Given the description of an element on the screen output the (x, y) to click on. 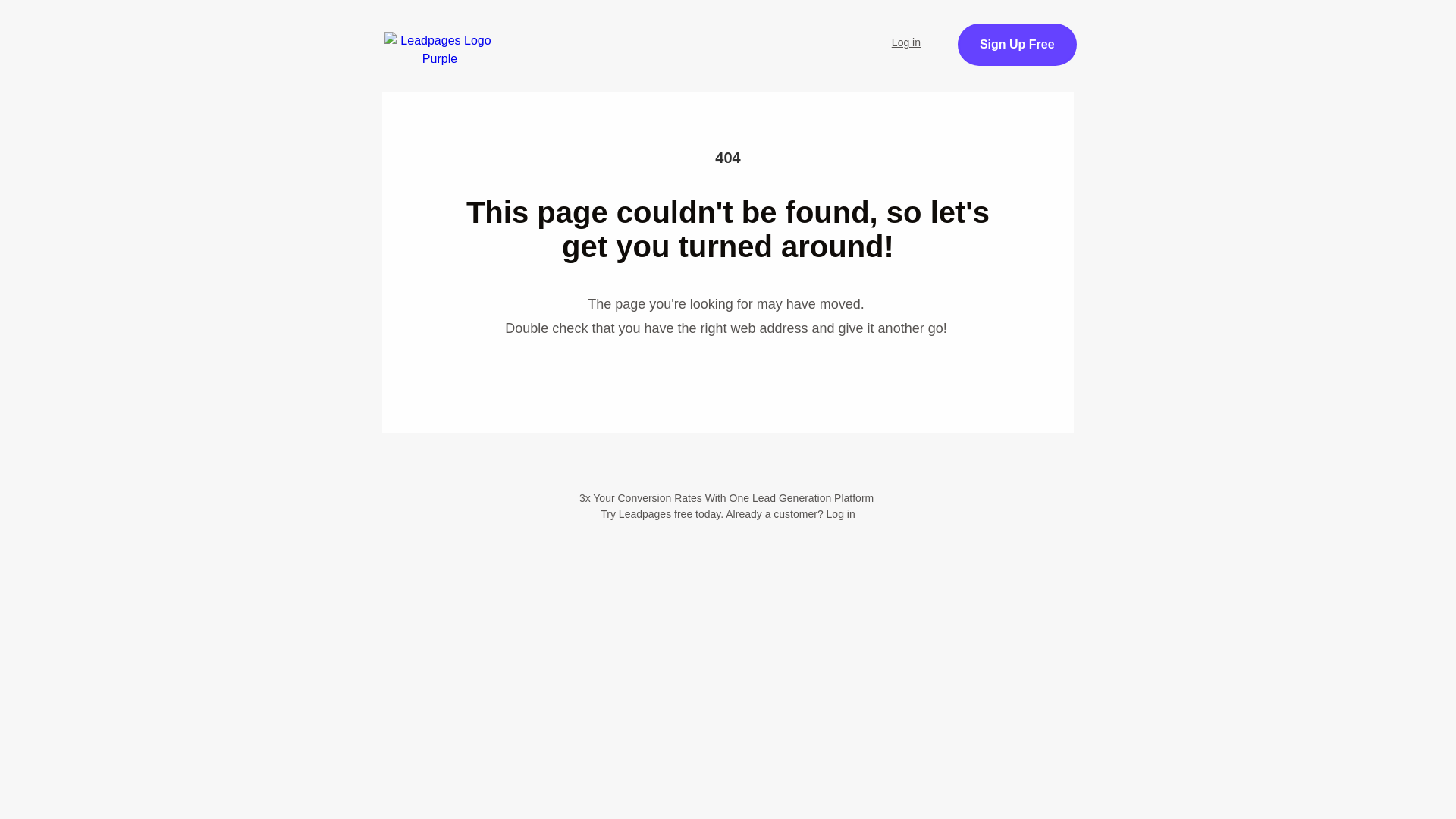
Log in (905, 42)
Log in (841, 513)
Sign Up Free (1017, 44)
Try Leadpages free (646, 513)
